Given the description of an element on the screen output the (x, y) to click on. 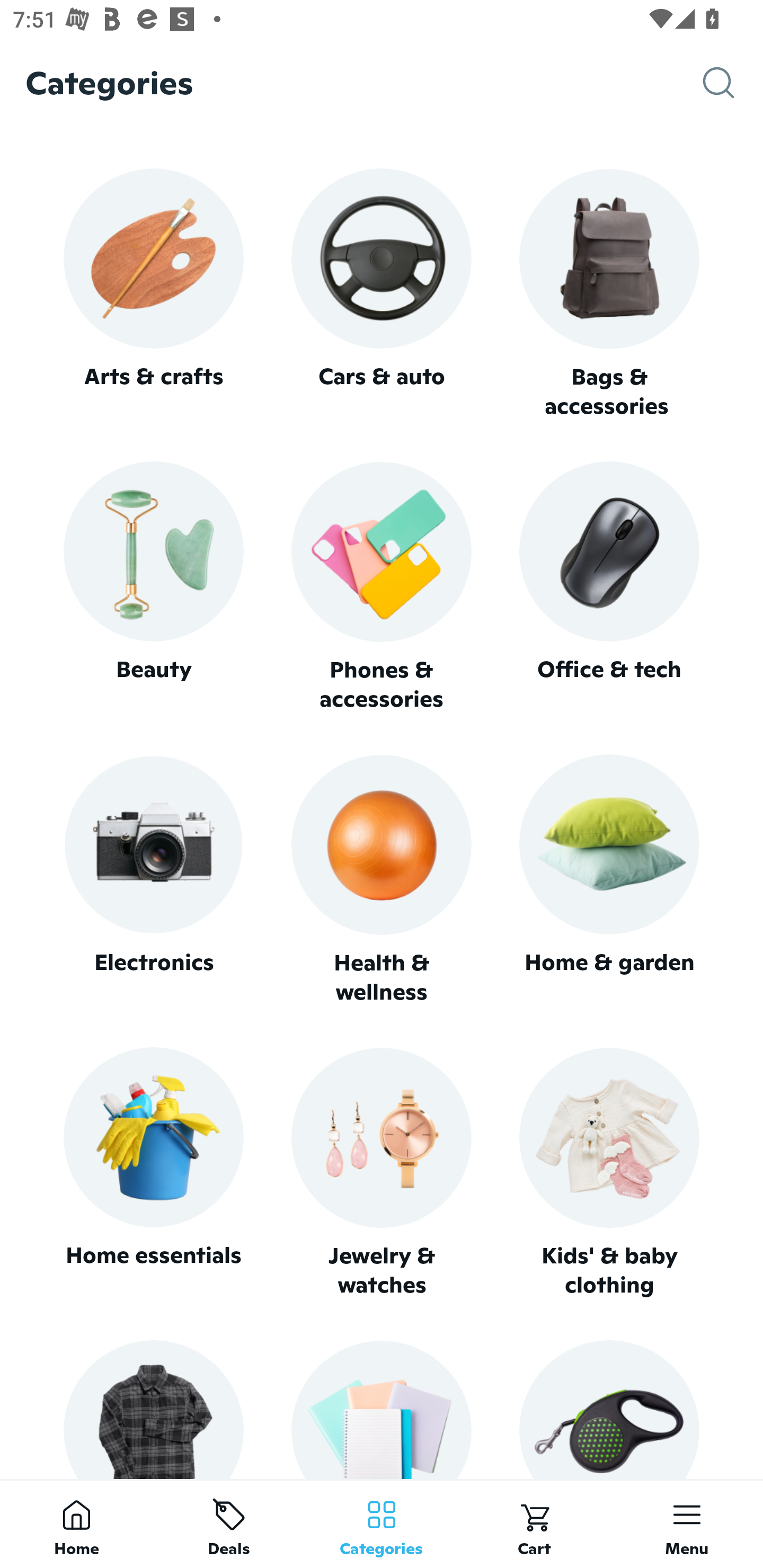
Search (732, 82)
Arts & crafts (153, 293)
Cars & auto (381, 293)
Bags & accessories  (609, 294)
Beauty (153, 586)
Office & tech (609, 586)
Phones & accessories (381, 587)
Electronics (153, 880)
Home & garden (609, 880)
Health & wellness (381, 880)
Home essentials (153, 1172)
Jewelry & watches (381, 1172)
Kids' & baby clothing (609, 1172)
Men's clothing (153, 1409)
Pet supplies (609, 1409)
Office & school supplies (381, 1409)
Home (76, 1523)
Deals (228, 1523)
Categories (381, 1523)
Cart (533, 1523)
Menu (686, 1523)
